Given the description of an element on the screen output the (x, y) to click on. 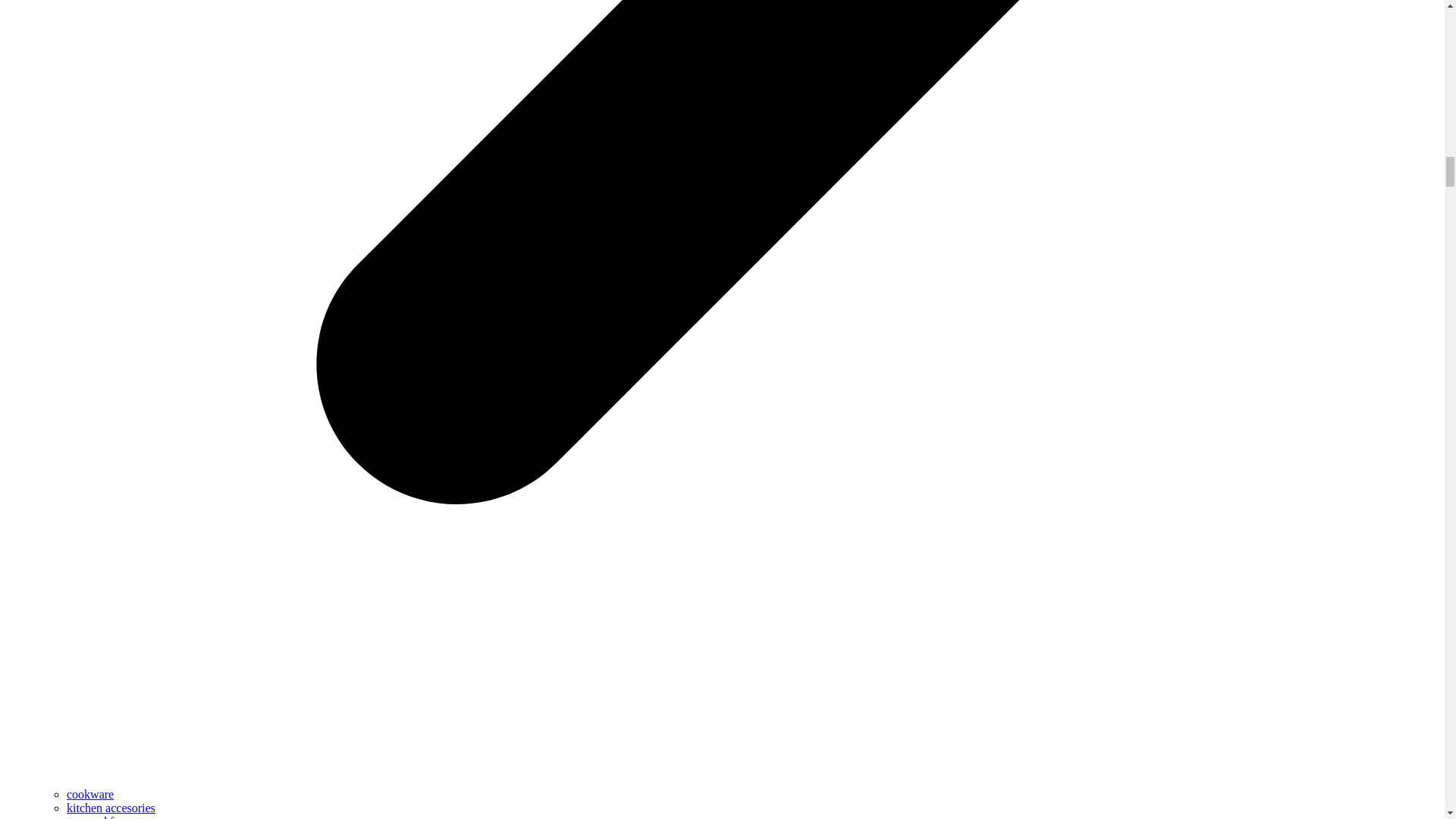
kitchen accesories (110, 807)
cookware (89, 793)
taps and faucets (105, 816)
